Given the description of an element on the screen output the (x, y) to click on. 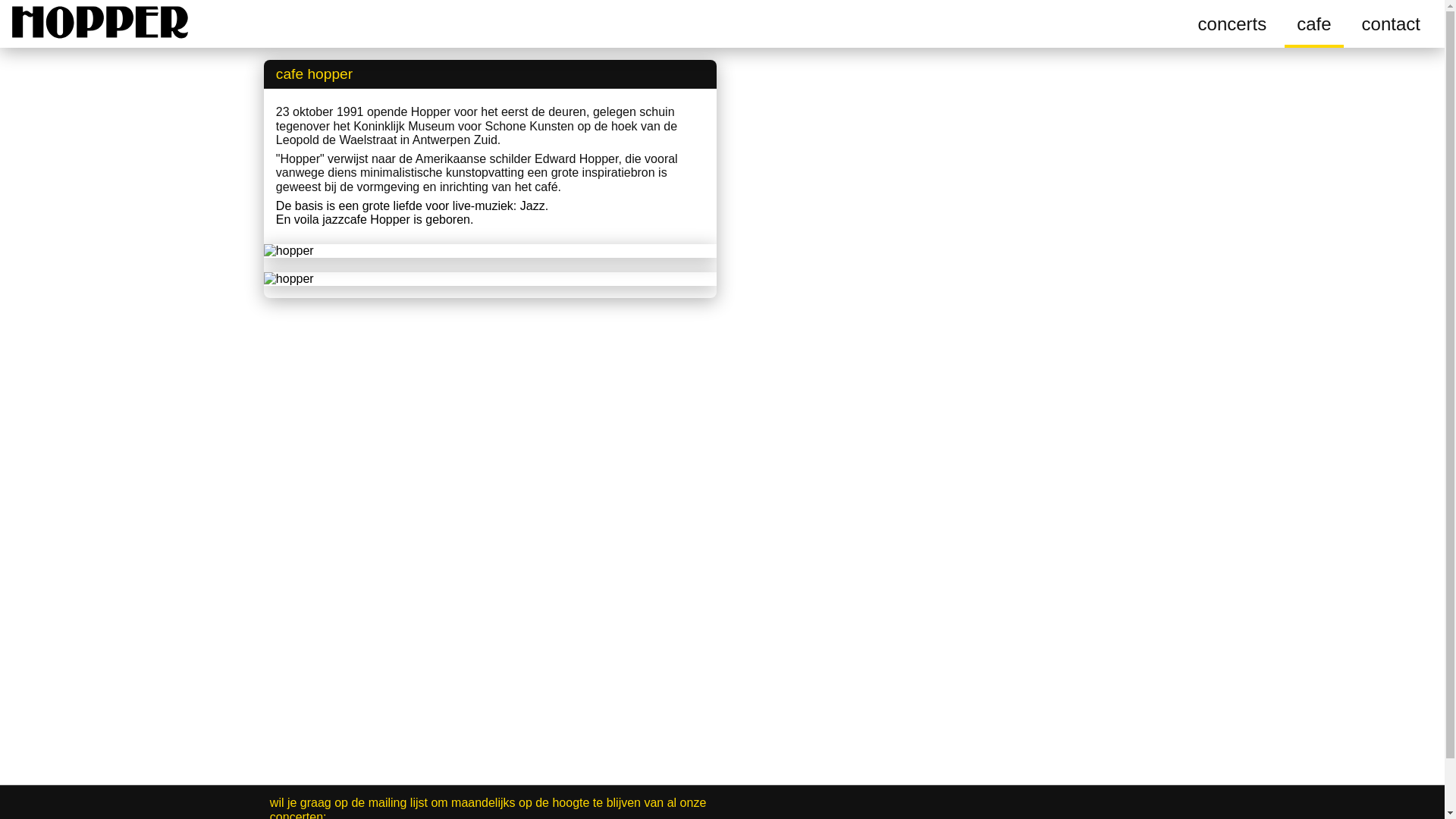
contact Element type: text (1390, 23)
concerts Element type: text (1232, 23)
cafe Element type: text (1313, 23)
concerts Element type: text (1232, 23)
cafe Element type: text (1313, 23)
contact Element type: text (1390, 23)
